Given the description of an element on the screen output the (x, y) to click on. 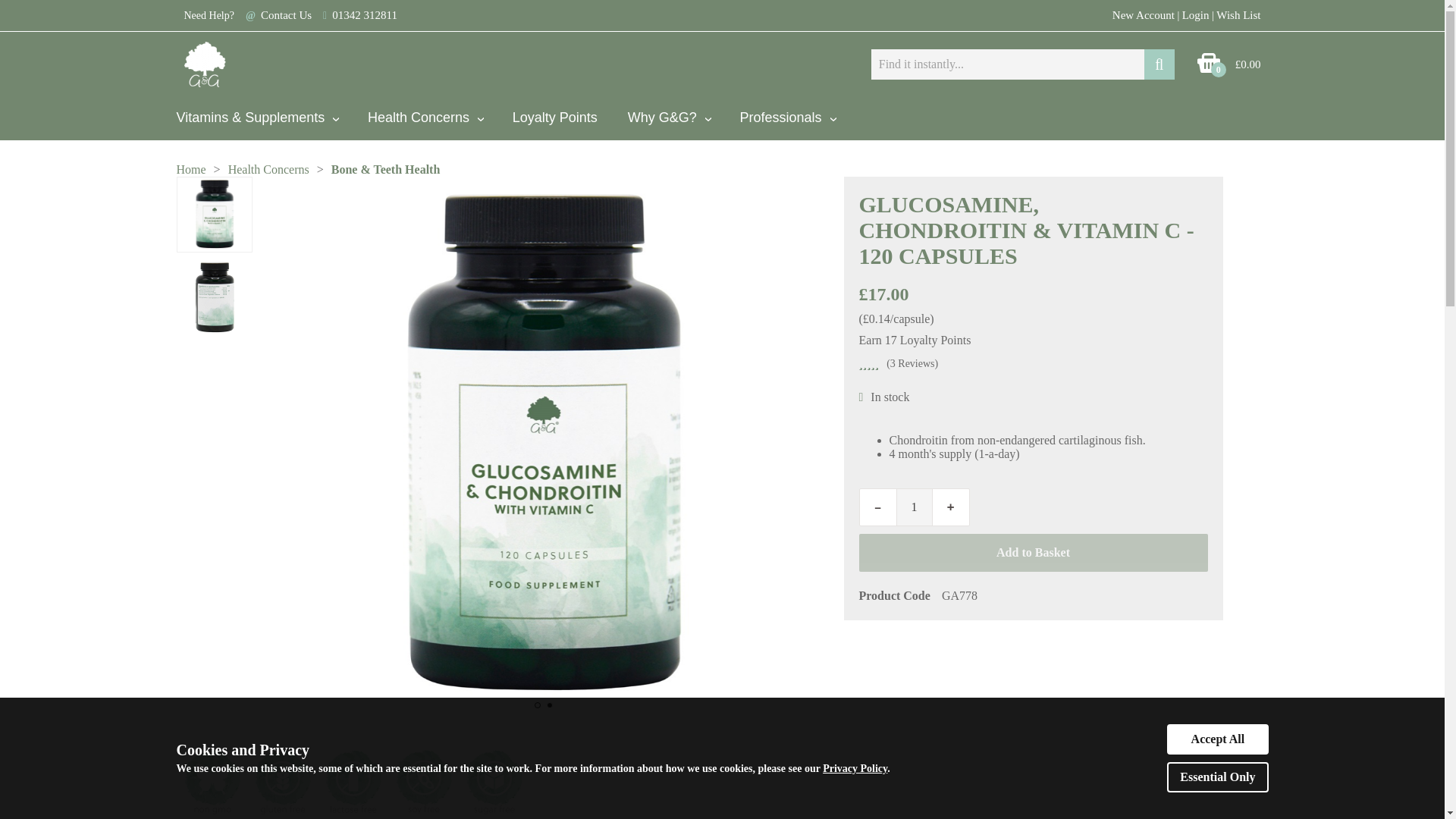
Wish List (1237, 15)
Sugar Free (493, 782)
Lactose Free (352, 782)
Soy Free (424, 782)
0 (1208, 70)
Contact Us (285, 15)
Gluten Free (282, 782)
In stock (861, 397)
Go (1159, 64)
New Account (1143, 15)
01342 312811 (364, 15)
Login (1195, 15)
Non-GMO (211, 782)
1 (914, 506)
